Given the description of an element on the screen output the (x, y) to click on. 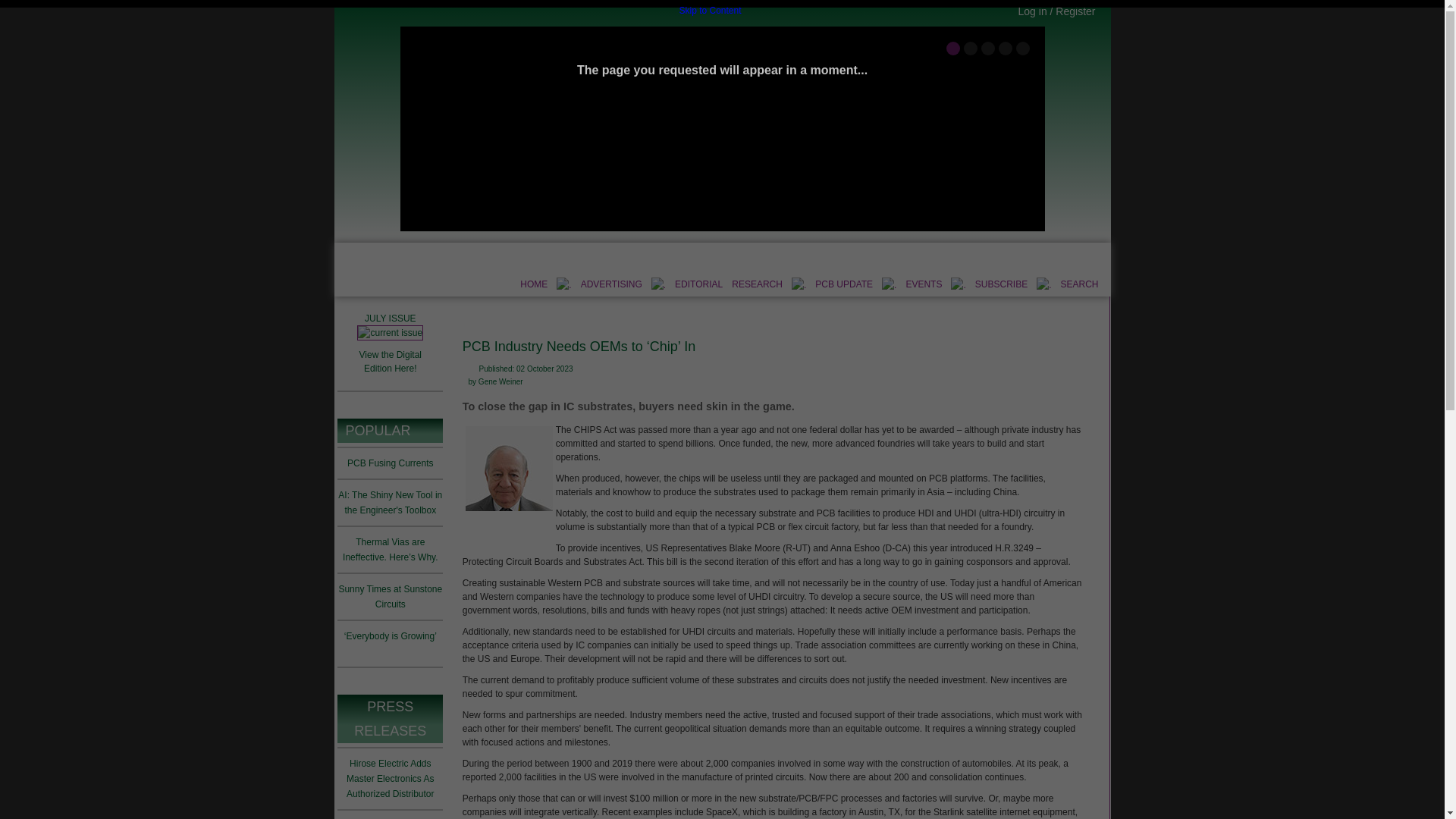
Skip to Content (710, 10)
Register (1074, 10)
JULY 2024 (389, 332)
Log in (1031, 10)
EDITORIAL (697, 283)
Digital version of Printed Circuit Design and Fab Magazine (390, 361)
ADVERTISING (611, 283)
HOME (533, 283)
Skip to Content (710, 10)
